Given the description of an element on the screen output the (x, y) to click on. 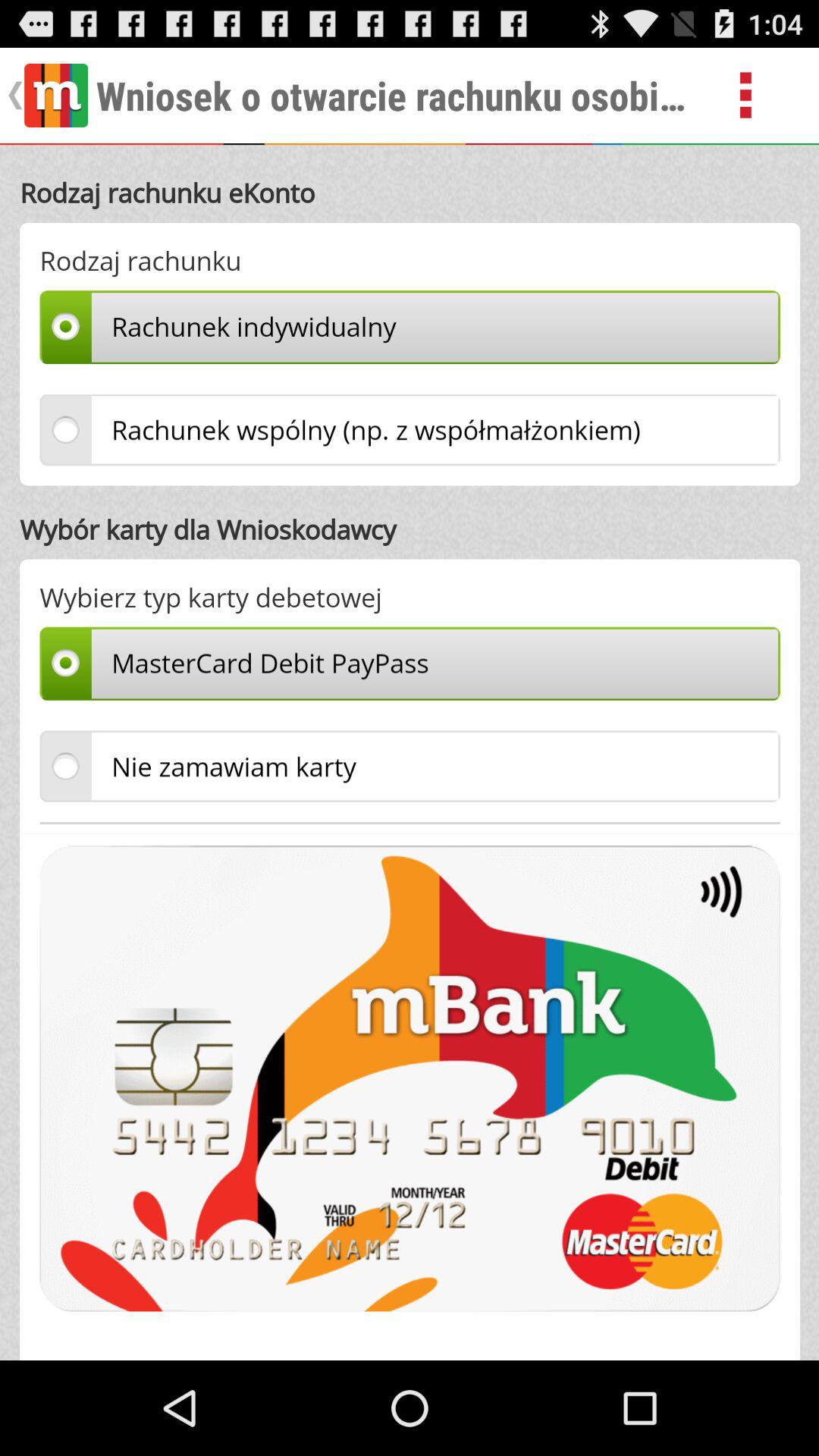
toggle a menu (763, 95)
